Given the description of an element on the screen output the (x, y) to click on. 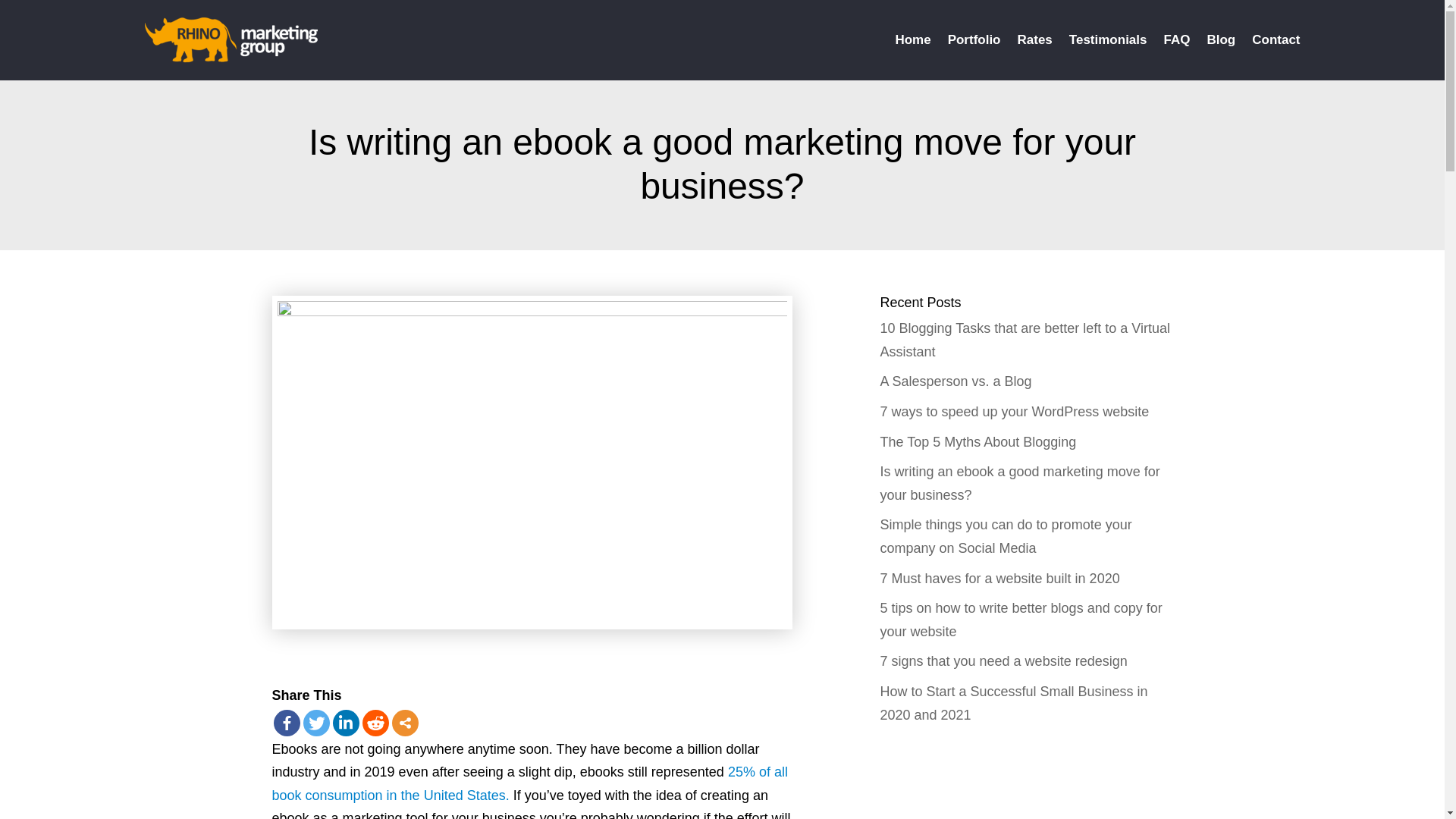
Portfolio (974, 39)
Testimonials (1107, 39)
More (404, 723)
7 Must haves for a website built in 2020 (999, 578)
How to Start a Successful Small Business in 2020 and 2021 (1013, 702)
A Salesperson vs. a Blog (954, 381)
